Given the description of an element on the screen output the (x, y) to click on. 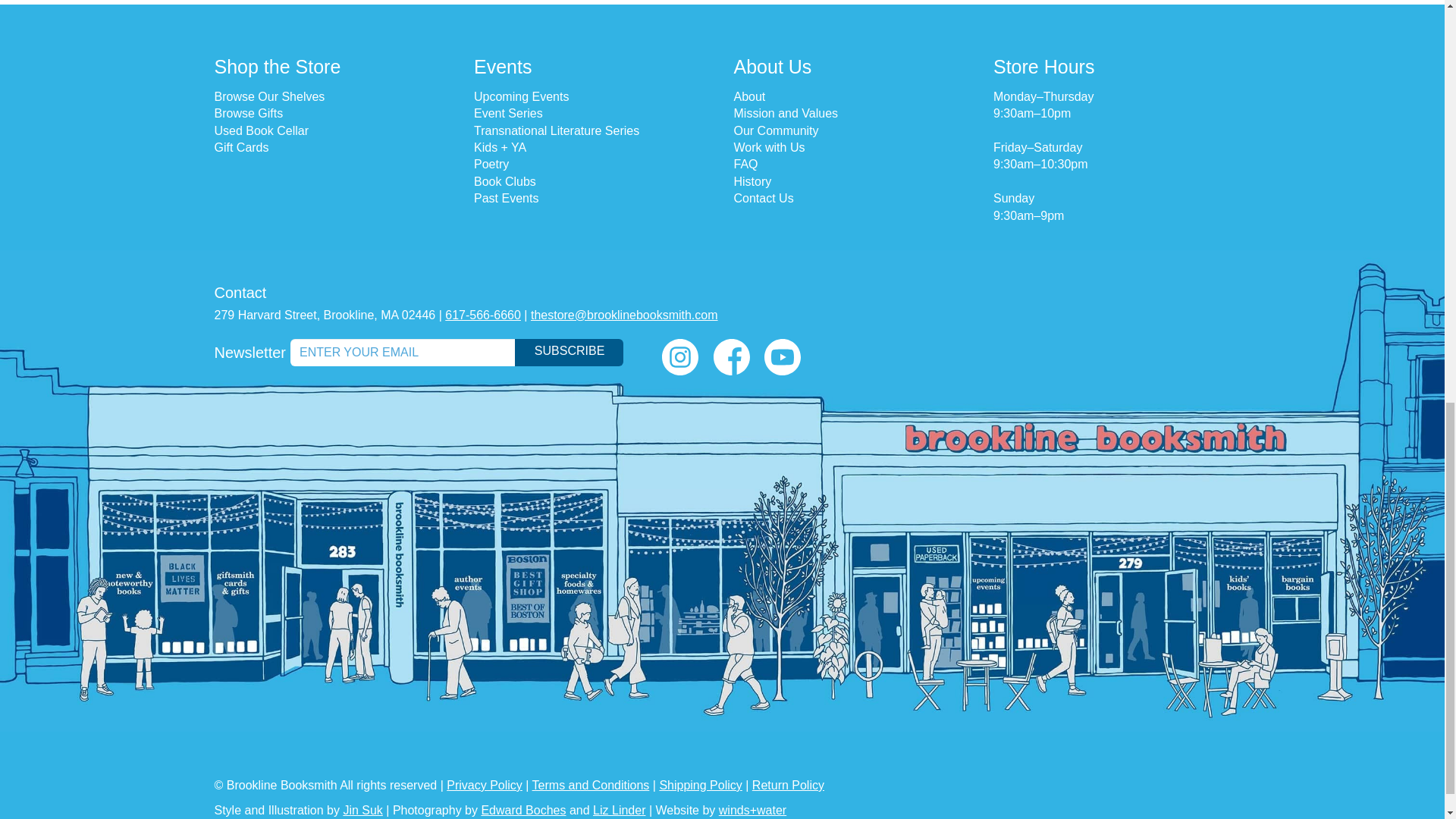
Subscribe (569, 352)
